Given the description of an element on the screen output the (x, y) to click on. 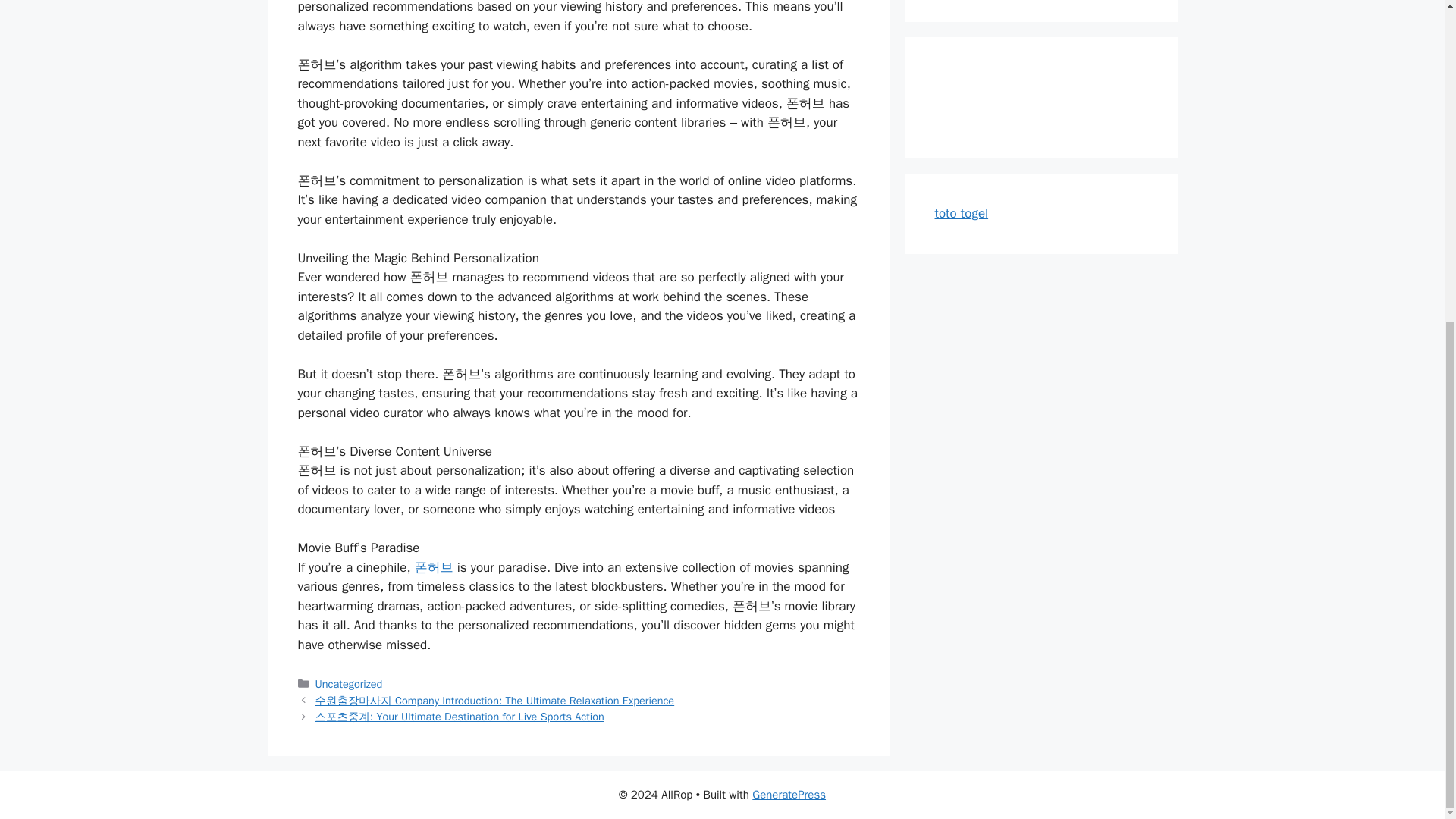
GeneratePress (788, 794)
toto togel (961, 213)
Uncategorized (348, 684)
